Given the description of an element on the screen output the (x, y) to click on. 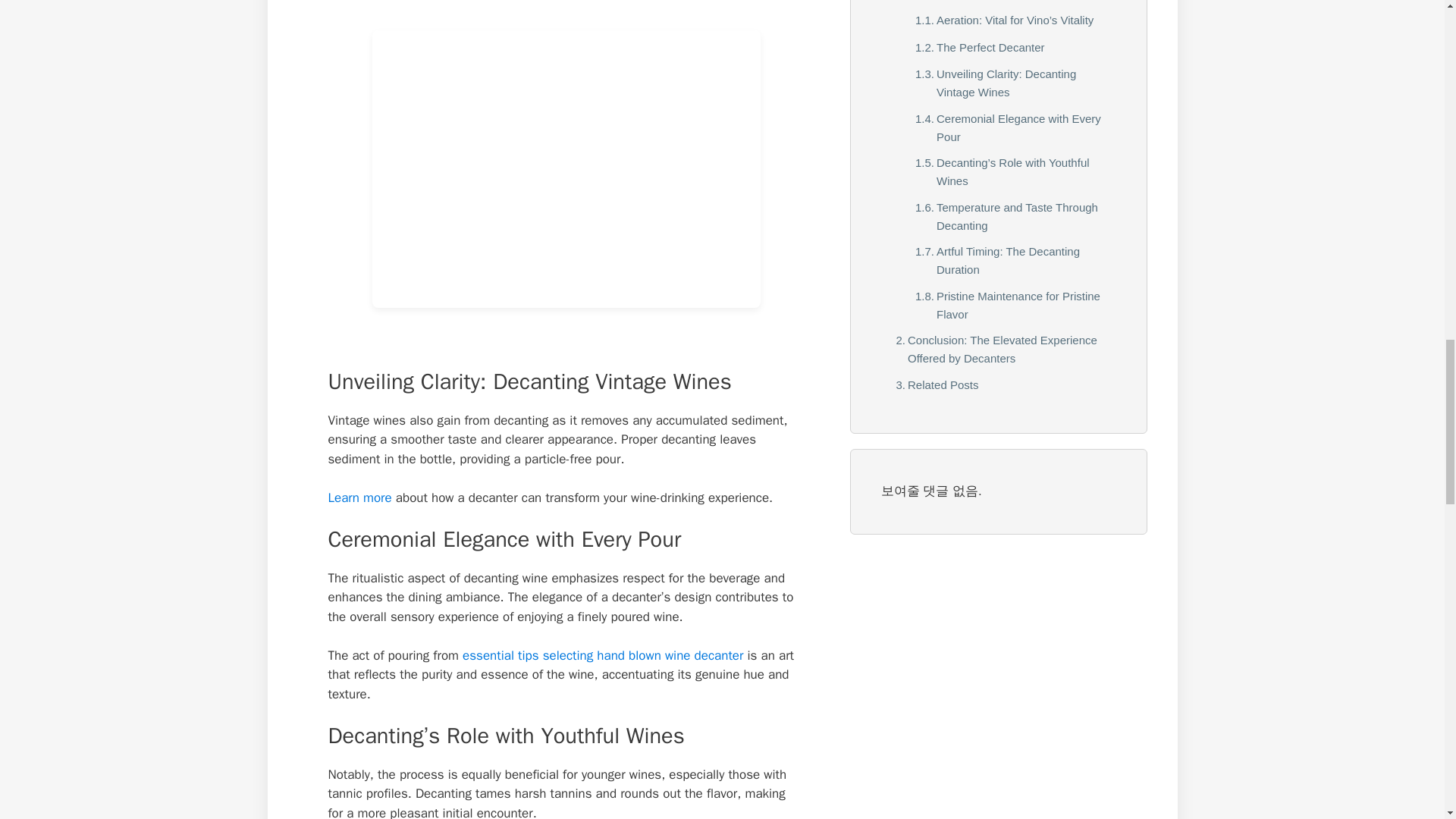
Learn more (359, 497)
Reaping the Benefits of Using a Wine Decanter (998, 1)
The Perfect Decanter (976, 47)
Unveiling Clarity: Decanting Vintage Wines (1007, 83)
essential tips selecting hand blown wine decanter (602, 655)
